Given the description of an element on the screen output the (x, y) to click on. 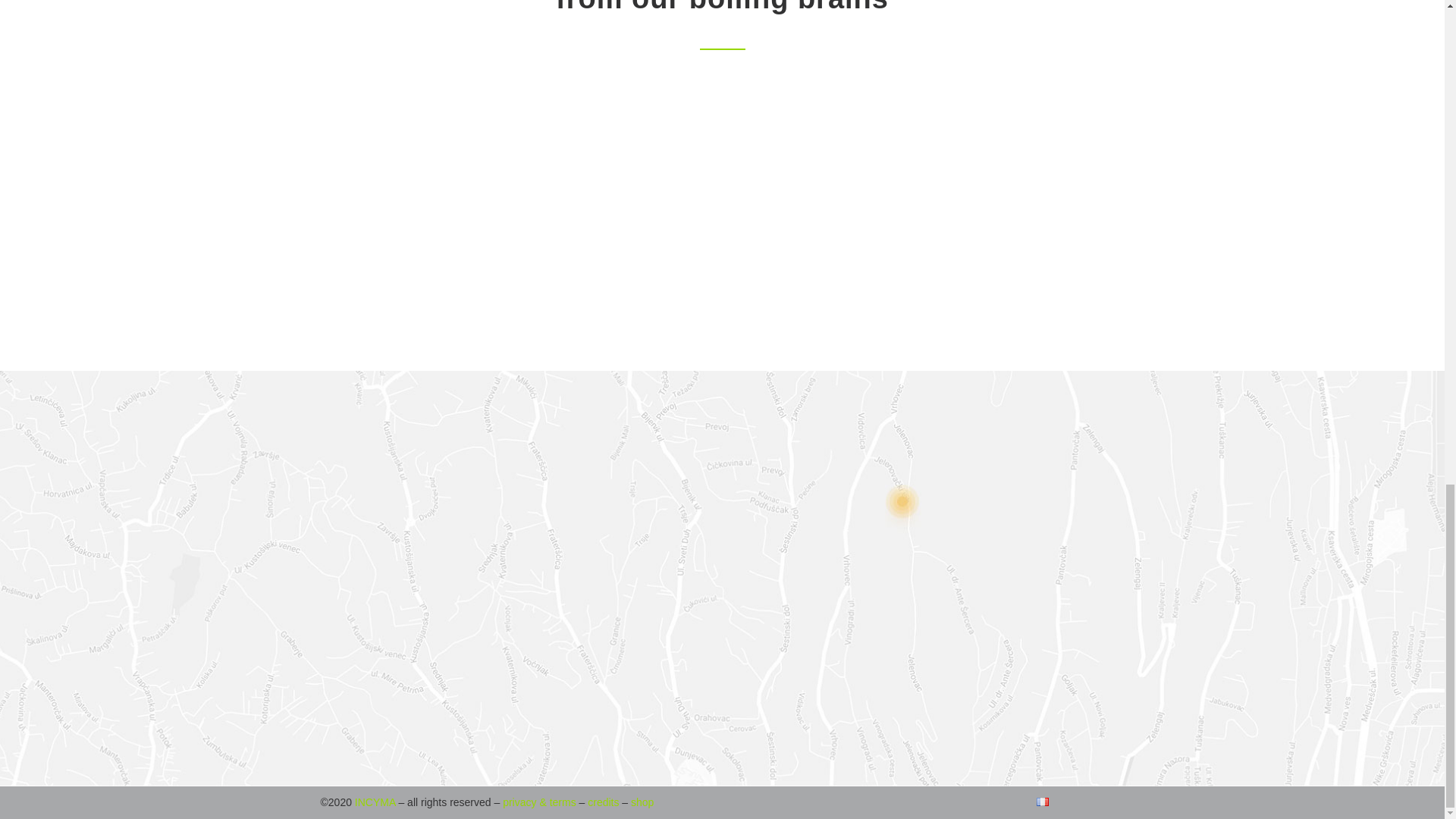
credits (603, 802)
shop (641, 802)
INCYMA (375, 802)
